Given the description of an element on the screen output the (x, y) to click on. 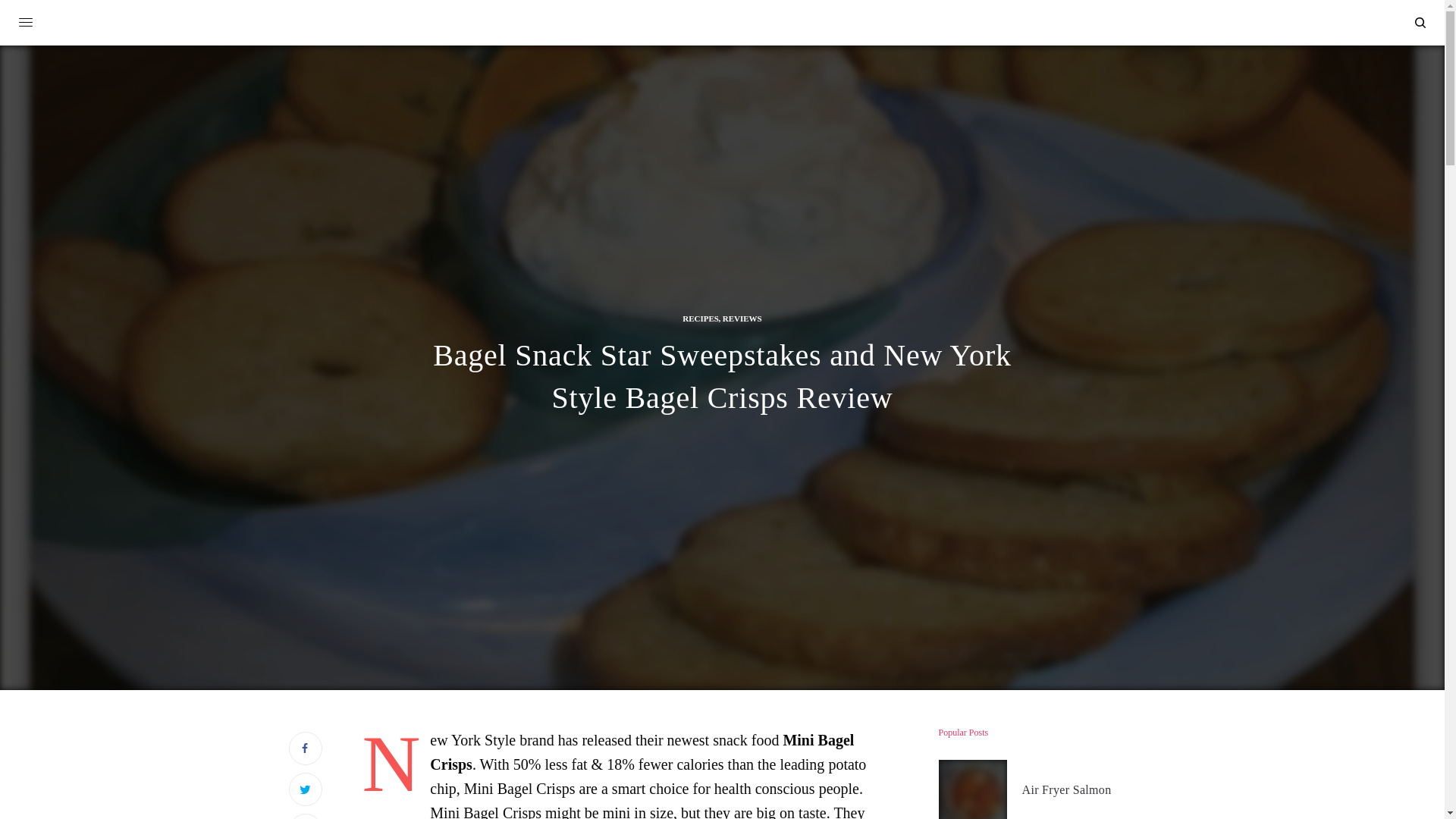
REVIEWS (741, 318)
RECIPES (700, 318)
About a Mom (722, 24)
Air Fryer Salmon (1067, 790)
